Given the description of an element on the screen output the (x, y) to click on. 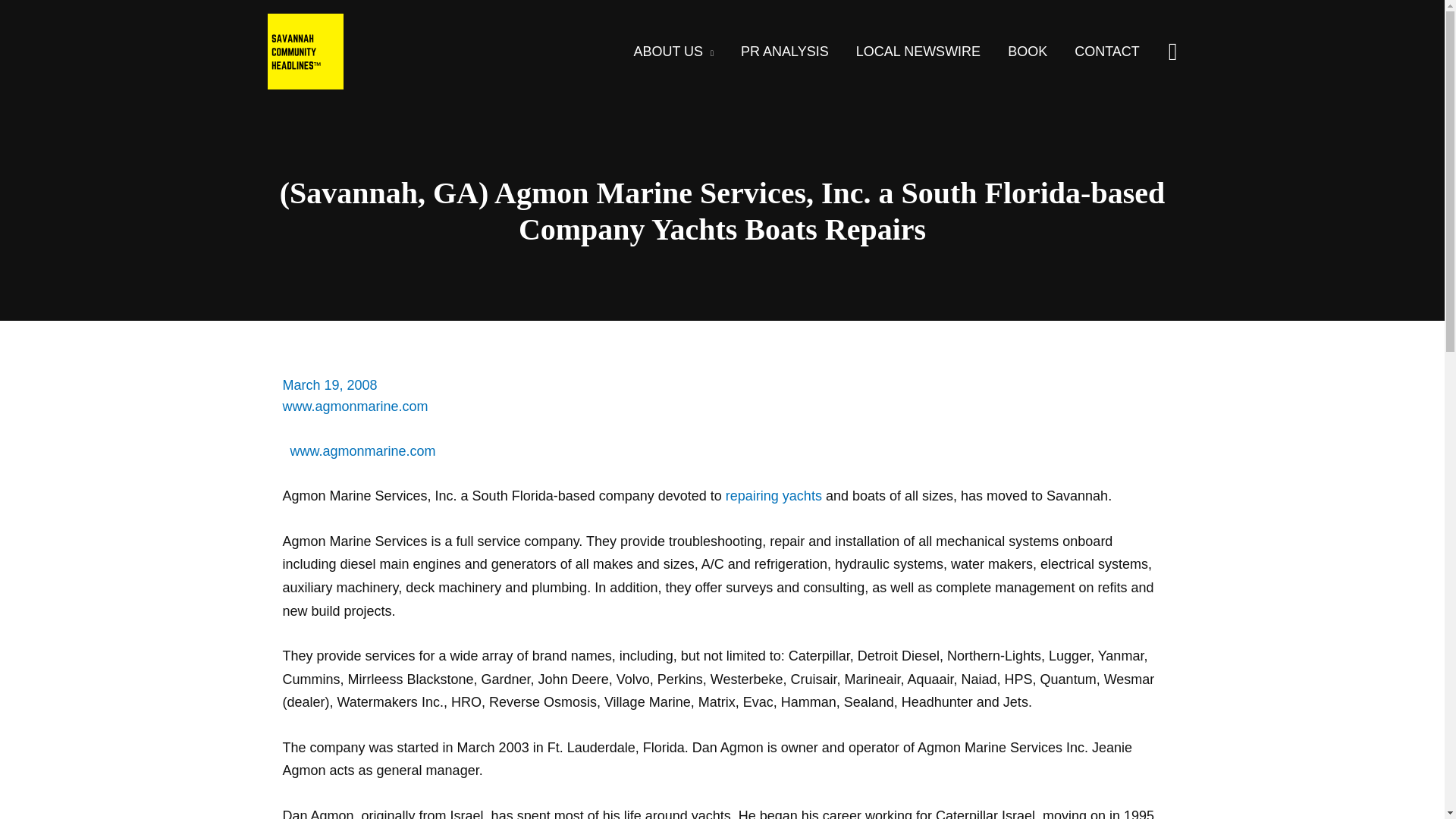
PR ANALYSIS (784, 51)
LOCAL NEWSWIRE (918, 51)
yacht repair engine savannah electrical (773, 495)
ABOUT US (673, 51)
BOOK (1027, 51)
marine services east coast (362, 450)
CONTACT (1107, 51)
repairing yachts (773, 495)
www.agmonmarine.com (362, 450)
www.agmonmarine.com (355, 406)
